Given the description of an element on the screen output the (x, y) to click on. 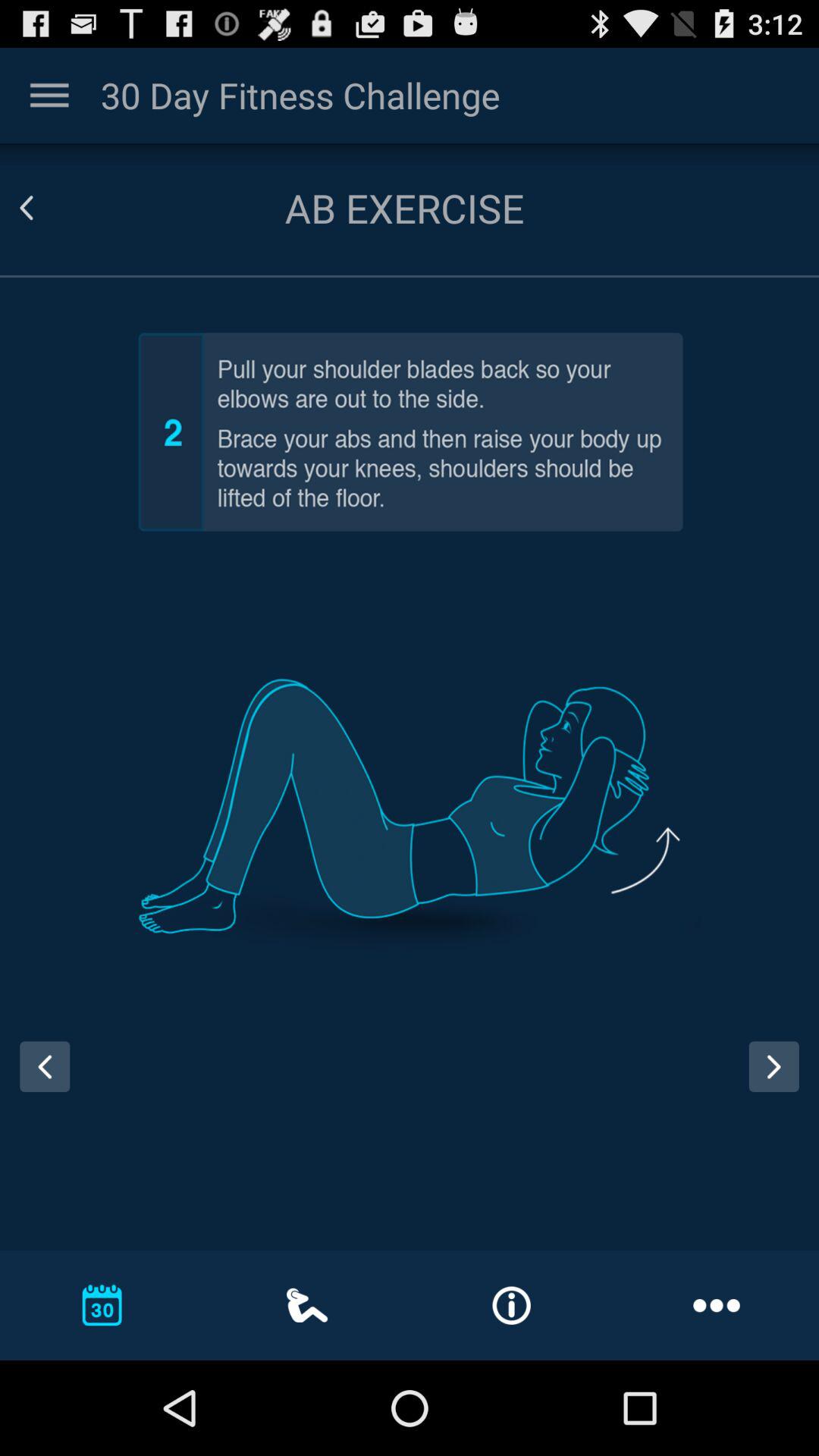
go to next (774, 1066)
